Given the description of an element on the screen output the (x, y) to click on. 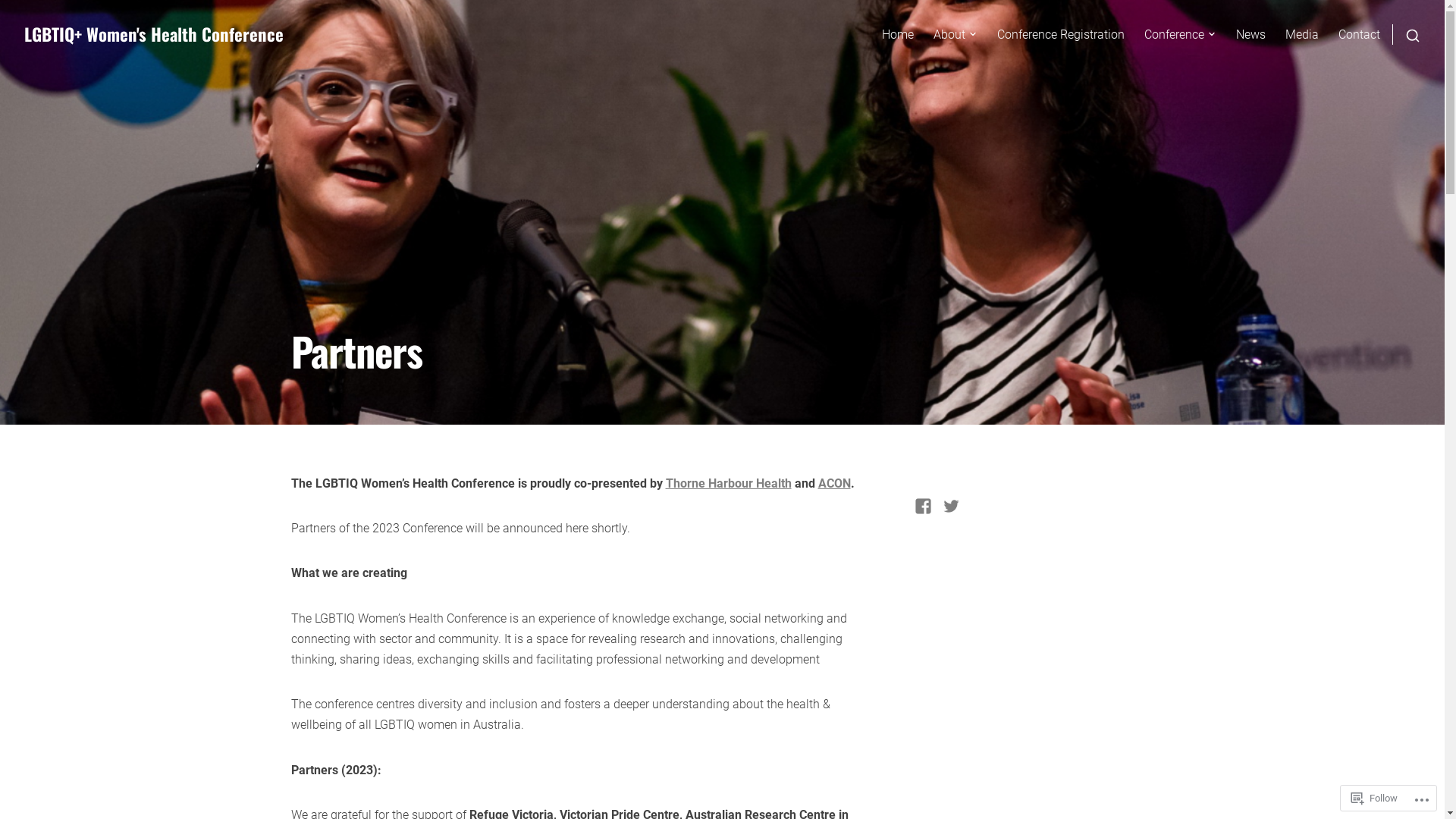
Contact Element type: text (1359, 34)
About Element type: text (955, 34)
ACON Element type: text (833, 483)
Thorne Harbour Health Element type: text (728, 483)
News Element type: text (1250, 34)
Follow Element type: text (1374, 797)
LGBTIQ+ Women's Health Conference Element type: text (153, 34)
Home Element type: text (897, 34)
Media Element type: text (1301, 34)
Conference Registration Element type: text (1060, 34)
Conference Element type: text (1180, 34)
